Given the description of an element on the screen output the (x, y) to click on. 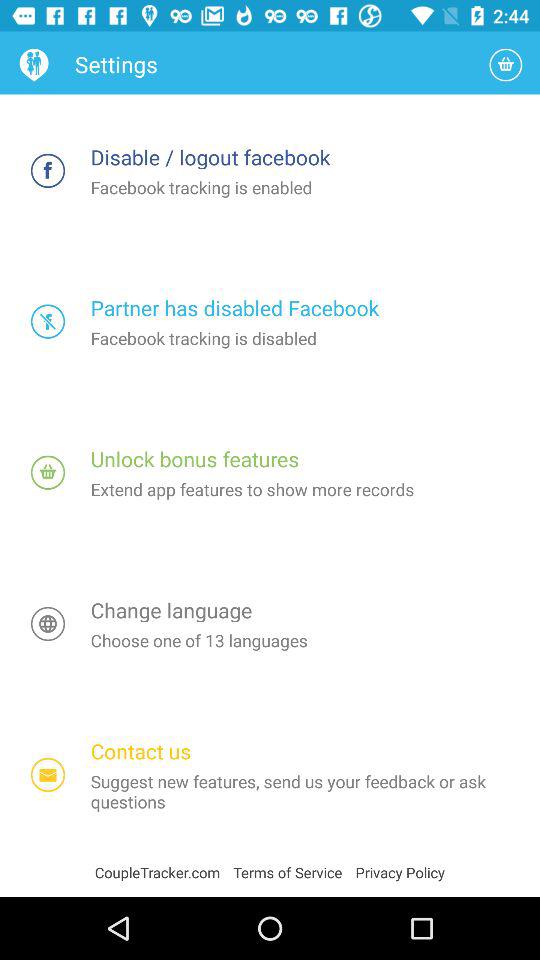
change language (47, 623)
